Given the description of an element on the screen output the (x, y) to click on. 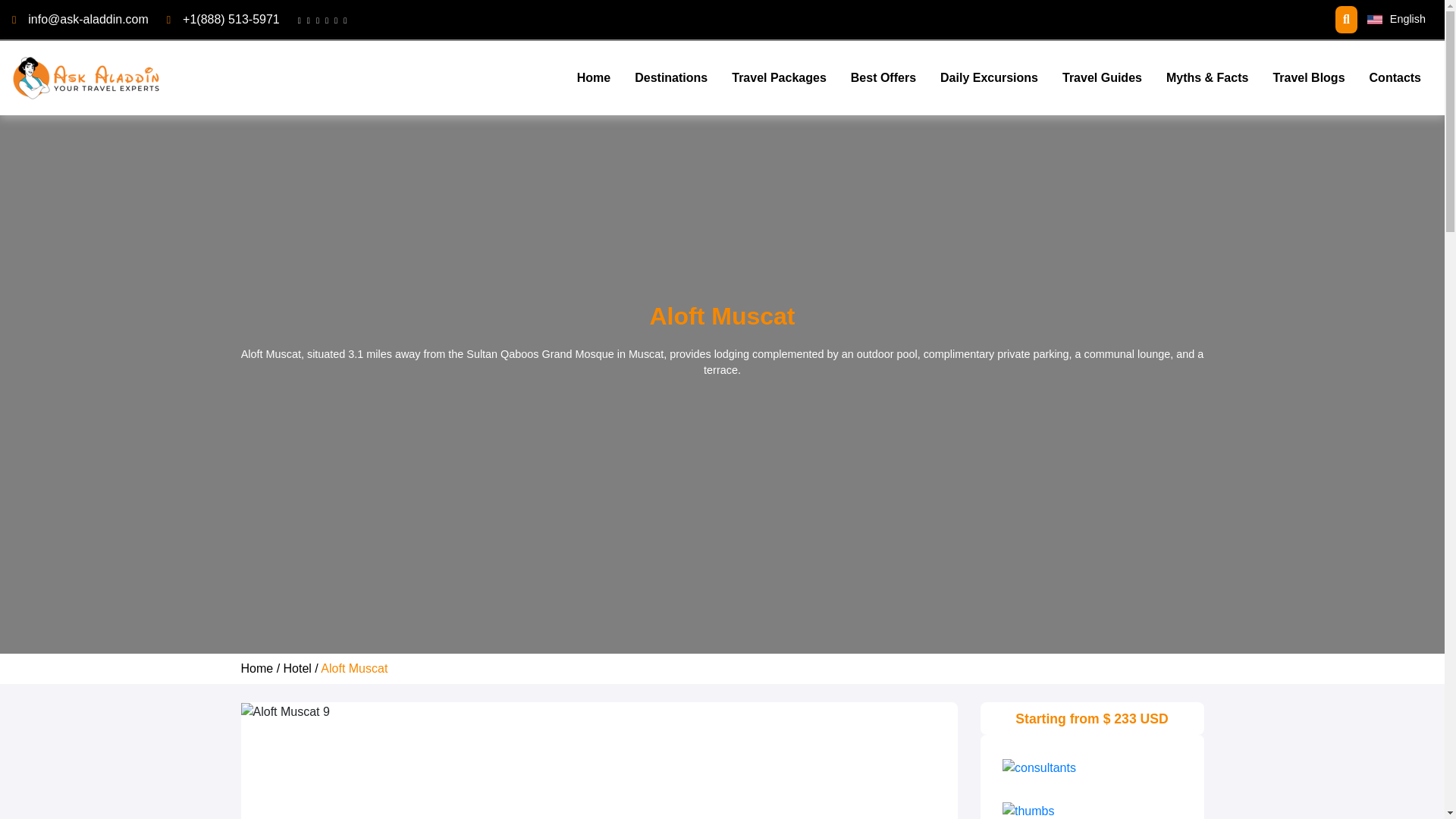
en (1374, 19)
phone (231, 19)
mail (87, 19)
ask-aladdin (87, 78)
Destinations (670, 78)
Home (592, 78)
Travel Packages (778, 78)
